Given the description of an element on the screen output the (x, y) to click on. 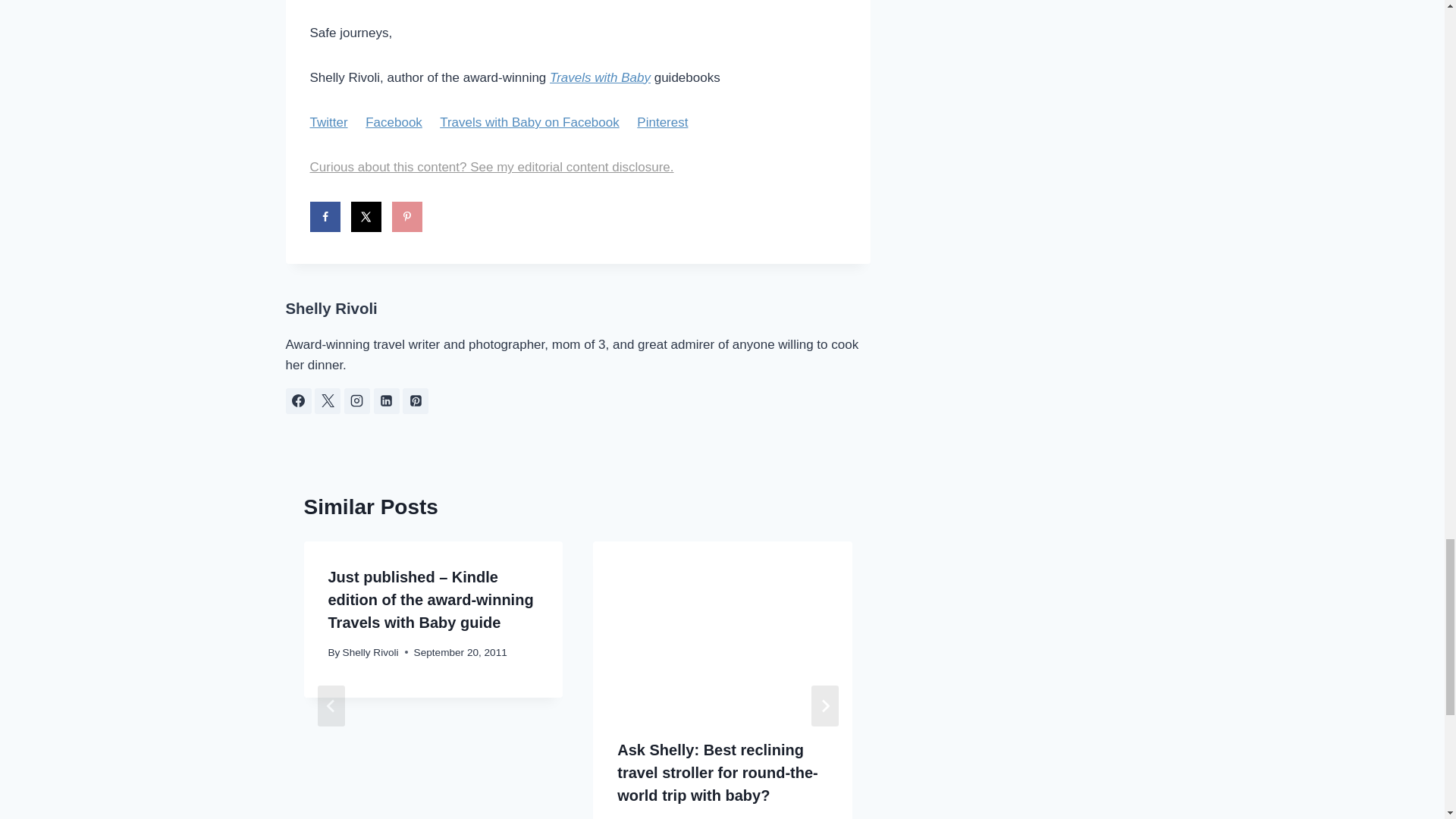
Travels with Baby on Facebook (529, 122)
Travels with Baby (600, 77)
Follow Shelly Rivoli on Linkedin (386, 401)
Save to Pinterest (406, 216)
Facebook (393, 122)
Share on X (365, 216)
Pinterest (662, 122)
Share on Facebook (323, 216)
Follow Shelly Rivoli on Pinterest (415, 401)
Twitter (327, 122)
Follow Shelly Rivoli on X formerly Twitter (327, 401)
Follow Shelly Rivoli on Facebook (298, 401)
Follow Shelly Rivoli on Instagram (356, 401)
